Given the description of an element on the screen output the (x, y) to click on. 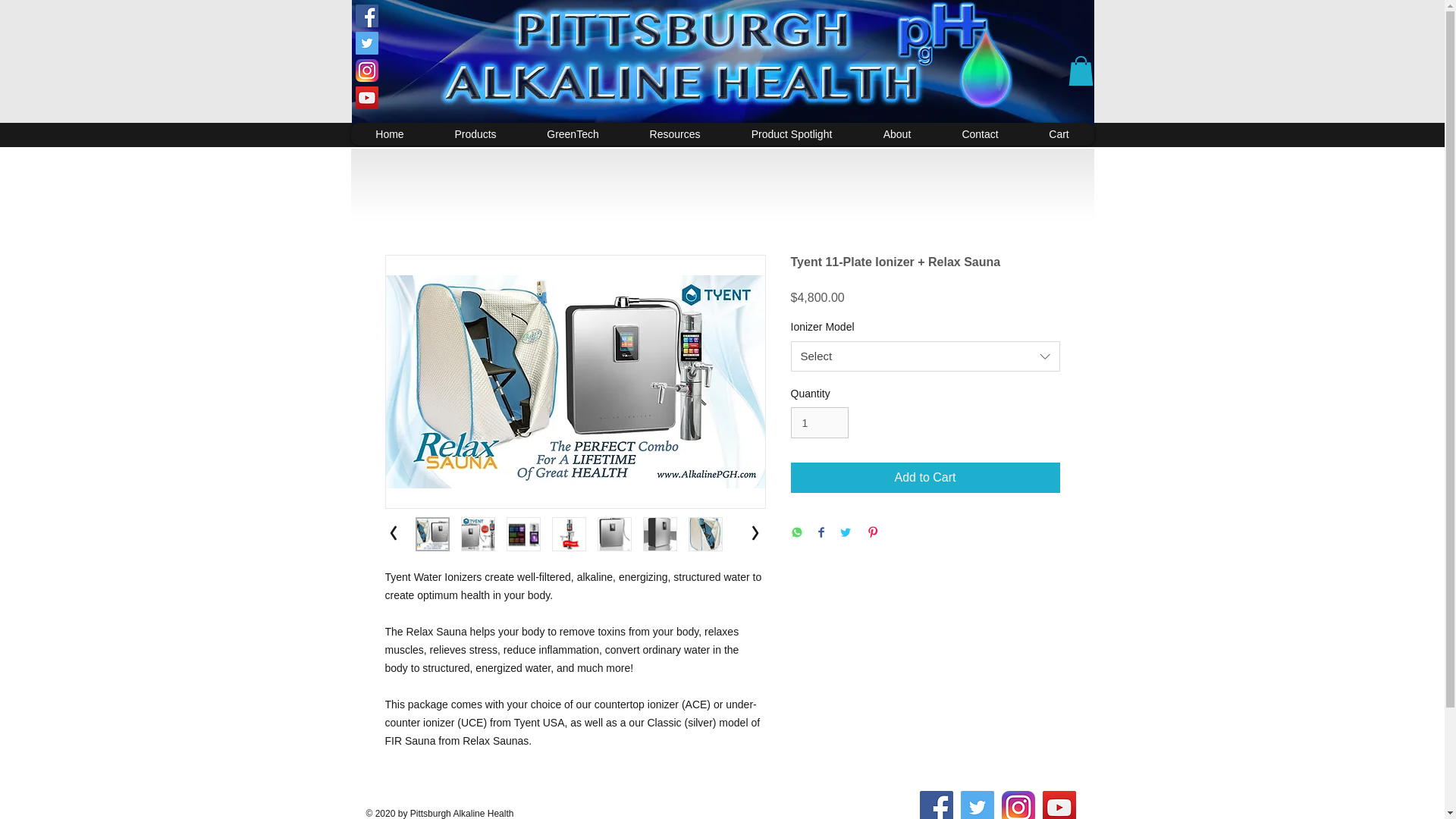
Add to Cart (924, 477)
1 (818, 422)
GreenTech (572, 133)
Contact (979, 133)
Product Spotlight (791, 133)
Pittsburgh Alkaline Water (723, 69)
Products (475, 133)
About (896, 133)
Resources (674, 133)
Home (389, 133)
Select (924, 356)
Cart (1058, 133)
